Given the description of an element on the screen output the (x, y) to click on. 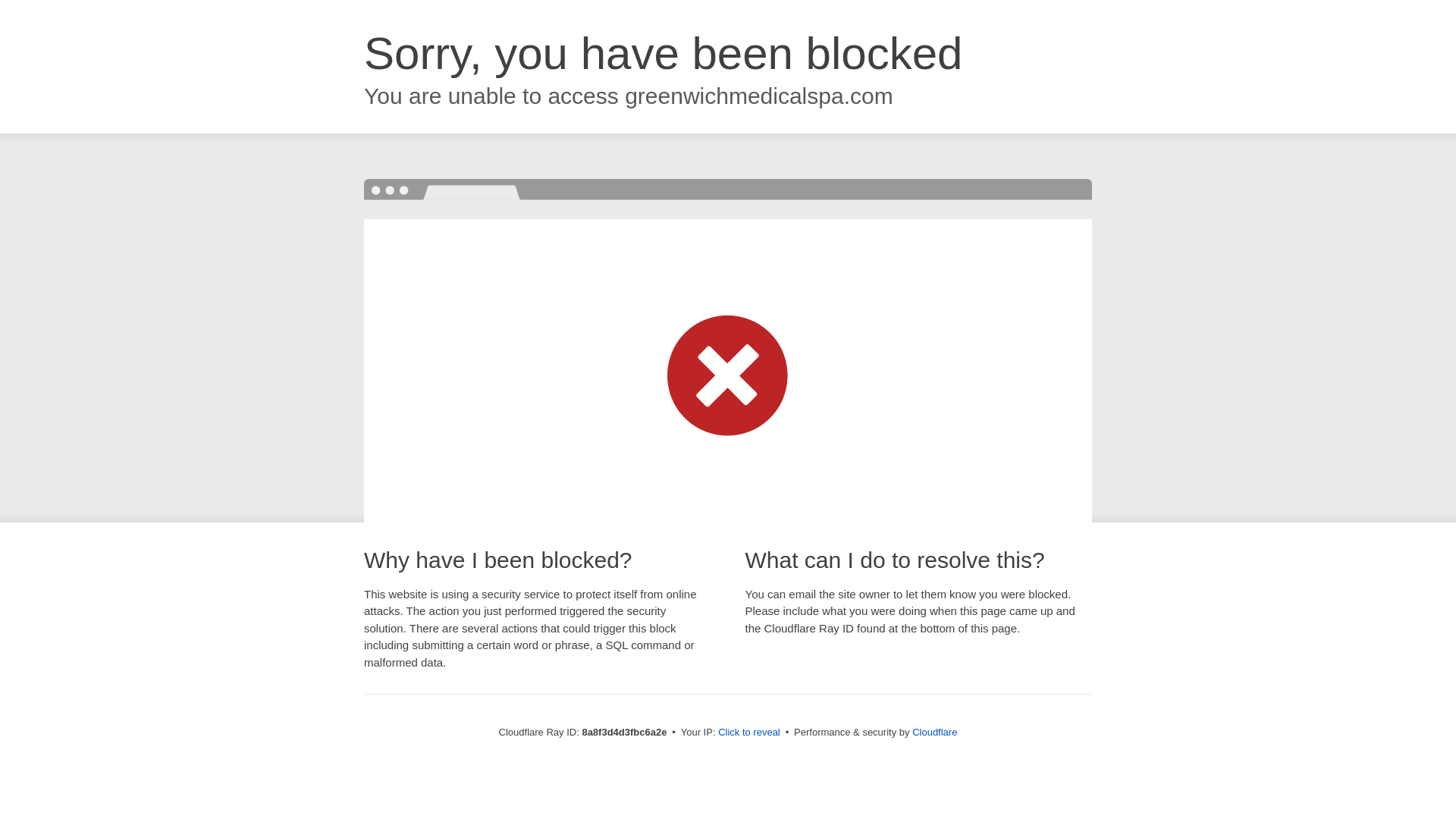
Click to reveal (748, 732)
Cloudflare (934, 731)
